Given the description of an element on the screen output the (x, y) to click on. 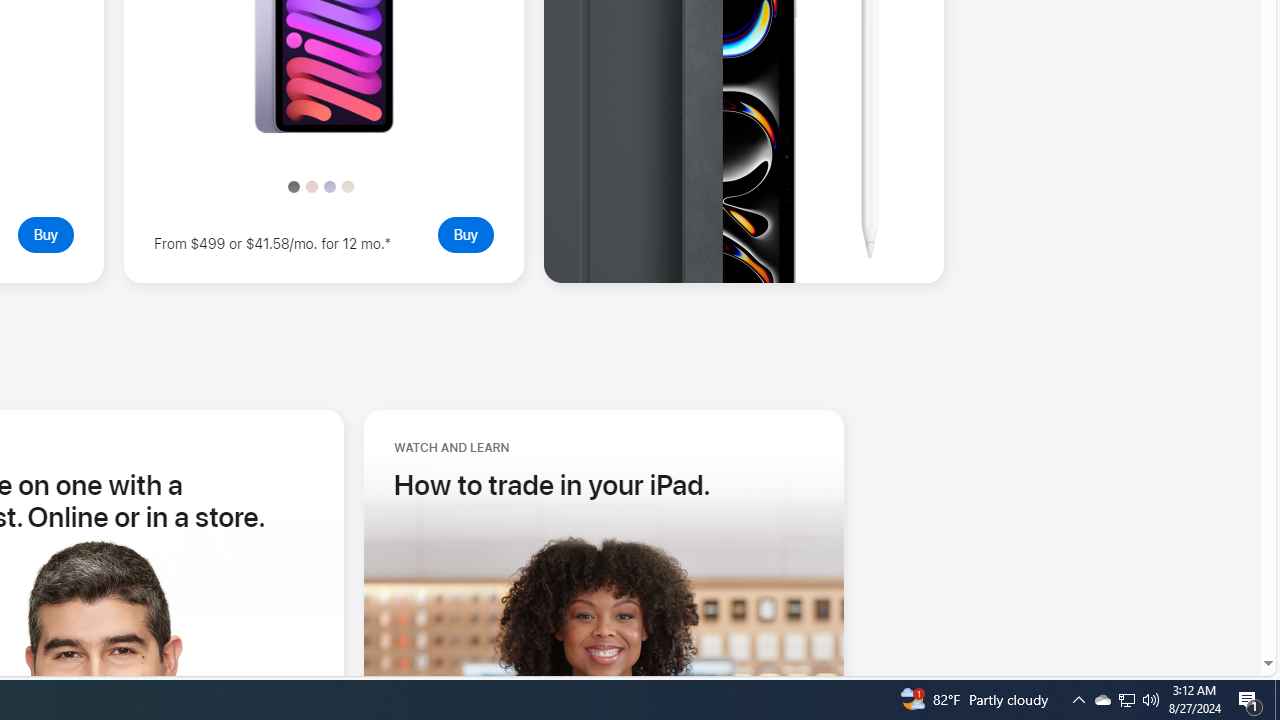
Space Gray (293, 186)
Pink (311, 186)
Purple (329, 186)
Purple (329, 186)
Starlight (347, 186)
Take a closer look - iPad mini  (324, 128)
Space Gray (293, 186)
Pink (311, 186)
Buy - iPad mini  (465, 234)
Buy - iPad (45, 234)
Starlight (347, 186)
